Given the description of an element on the screen output the (x, y) to click on. 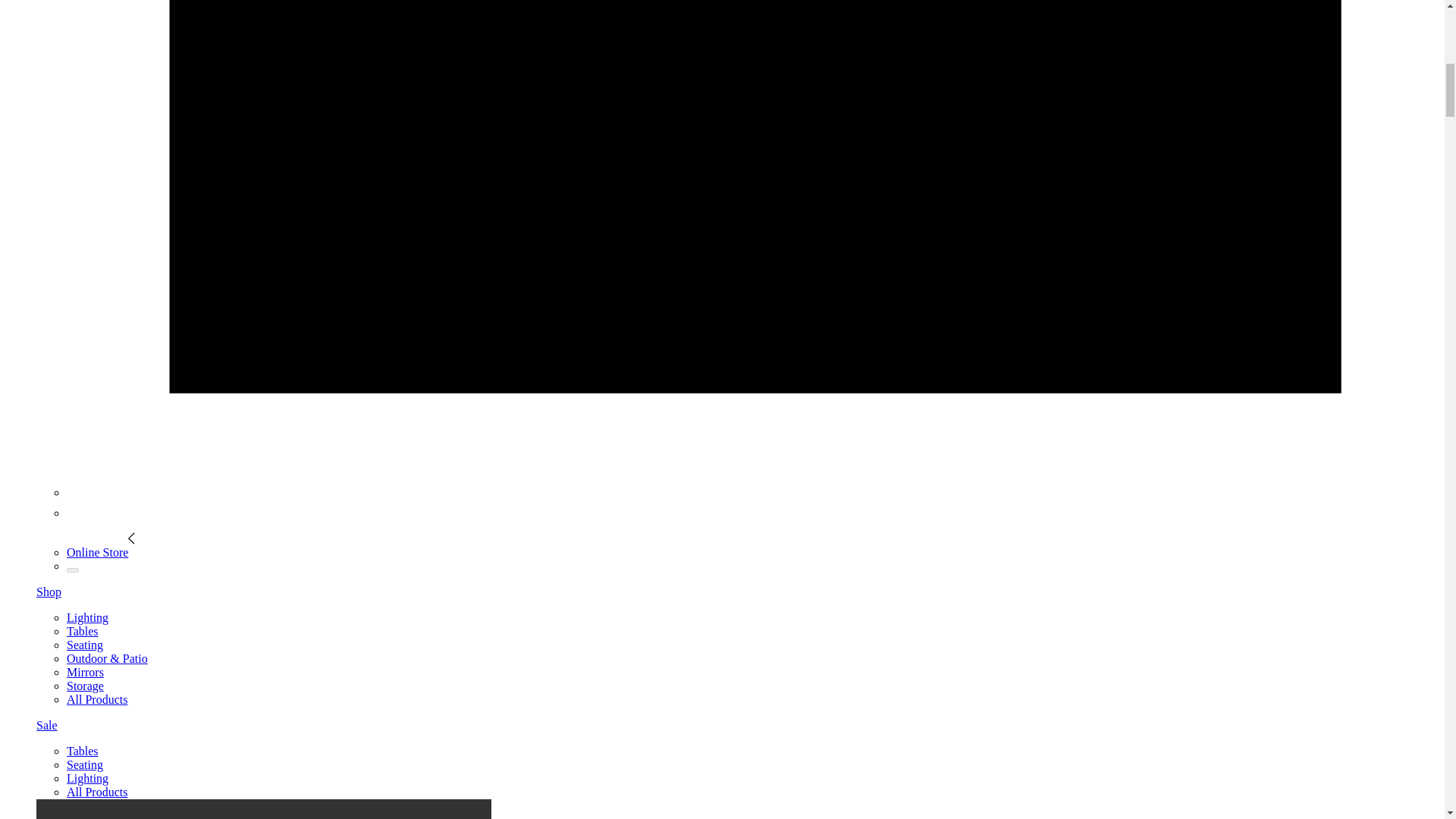
Mirrors (84, 671)
All Products (97, 698)
Seating (84, 764)
Lighting (86, 778)
Storage (84, 685)
Sale (47, 725)
All Products (97, 791)
Shop (48, 591)
Online Store (100, 552)
Lighting (86, 617)
Seating (84, 644)
Tables (82, 631)
Tables (82, 750)
